Given the description of an element on the screen output the (x, y) to click on. 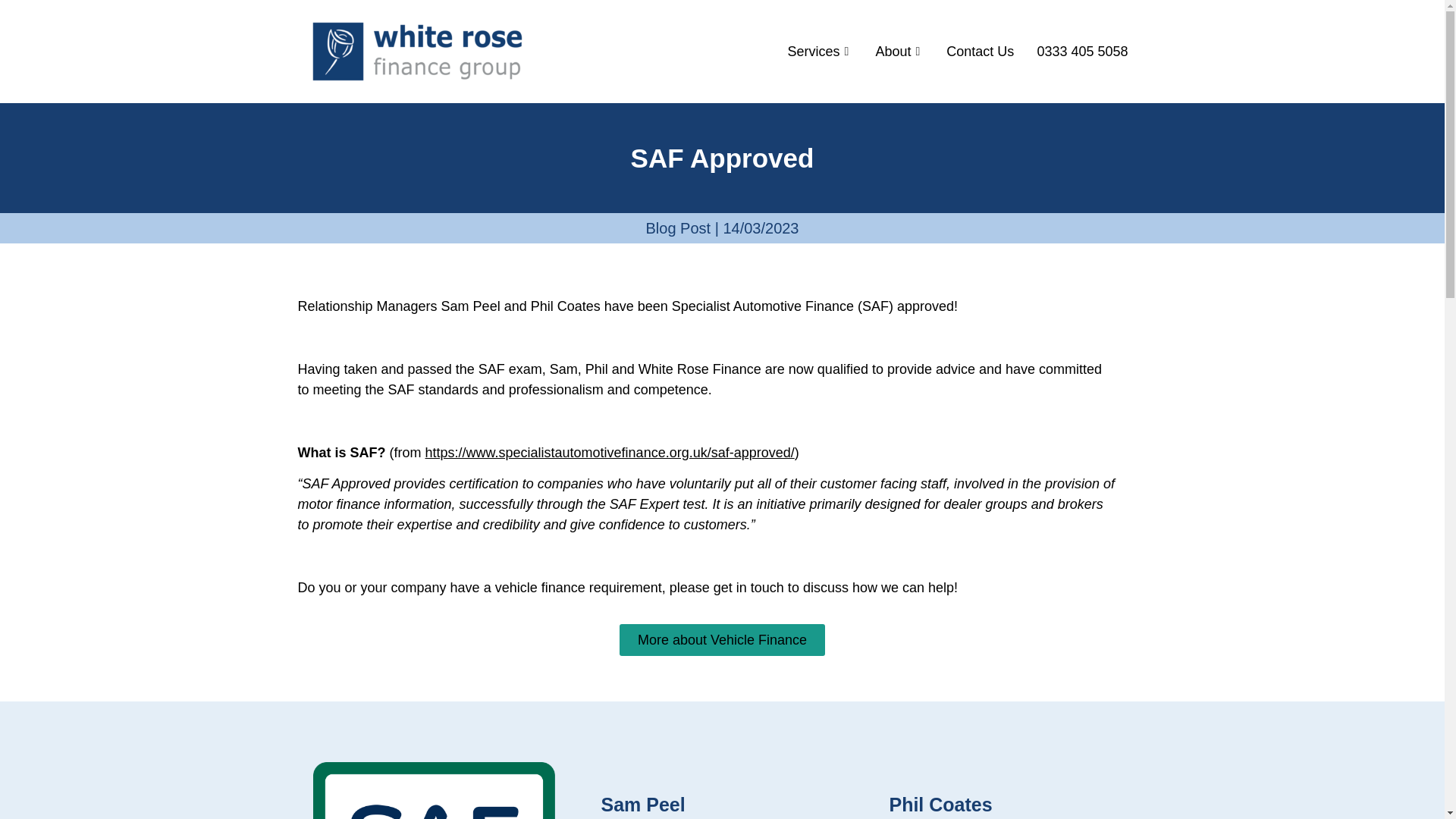
Services (820, 51)
0333 405 5058 (1081, 51)
More about Vehicle Finance (722, 640)
Contact Us (979, 51)
About (898, 51)
